Given the description of an element on the screen output the (x, y) to click on. 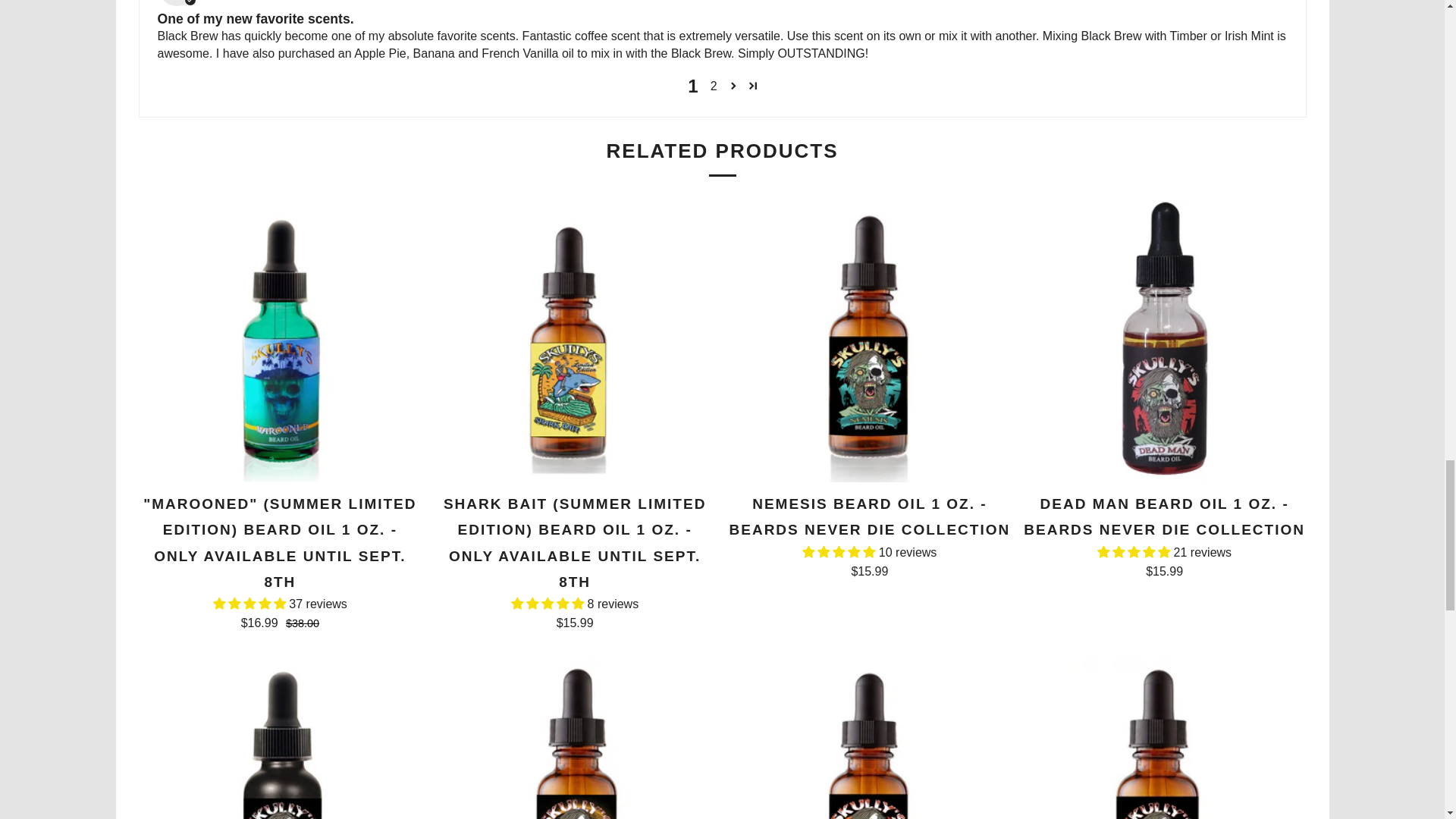
NumbSkull Beard oil 1 oz. - Beards Never Die Collection (574, 737)
Nemesis Beard oil 1 oz. - Beards Never Die Collection (869, 534)
Nemesis Beard oil 1 oz. - Beards Never Die Collection (869, 340)
Rum Dumb Beard oil 1 oz. - Beards Never Die Collection (280, 737)
Bonehead Beard oil 1 oz. - Beards Never Die Collection (1164, 737)
Juggernaut Beard oil 1 oz. - Beards Never Die Collection (869, 737)
Dead Man Beard oil 1 oz. - Beards Never Die Collection (1164, 340)
Dead Man Beard oil 1 oz. - Beards Never Die Collection (1164, 534)
